Given the description of an element on the screen output the (x, y) to click on. 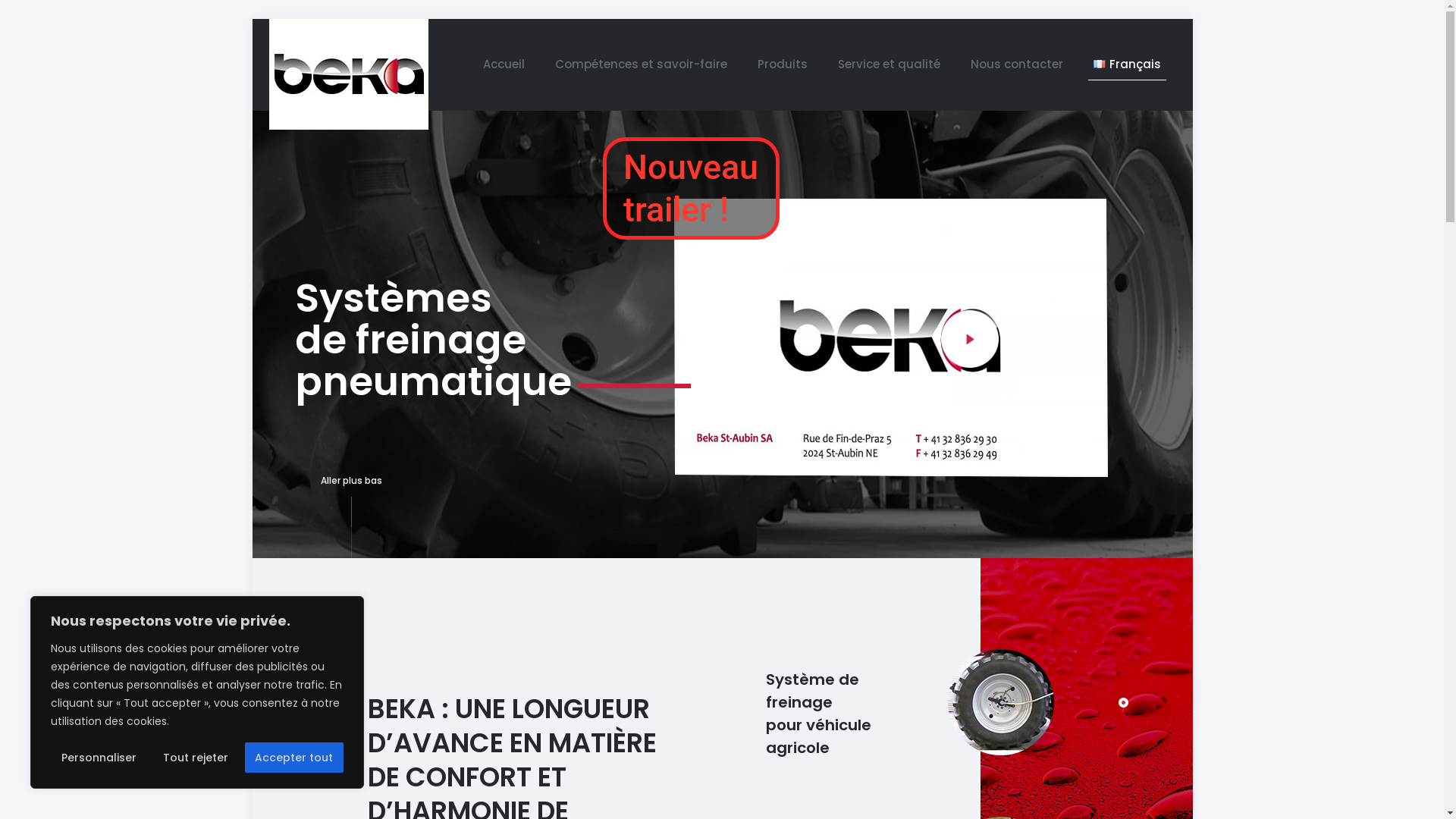
Produits Element type: text (782, 63)
Accueil Element type: text (503, 63)
Accepter tout Element type: text (293, 757)
Tout rejeter Element type: text (195, 757)
Personnaliser Element type: text (98, 757)
BEKA ST-AUBIN SA Element type: hover (347, 73)
Nous contacter Element type: text (1016, 63)
